Given the description of an element on the screen output the (x, y) to click on. 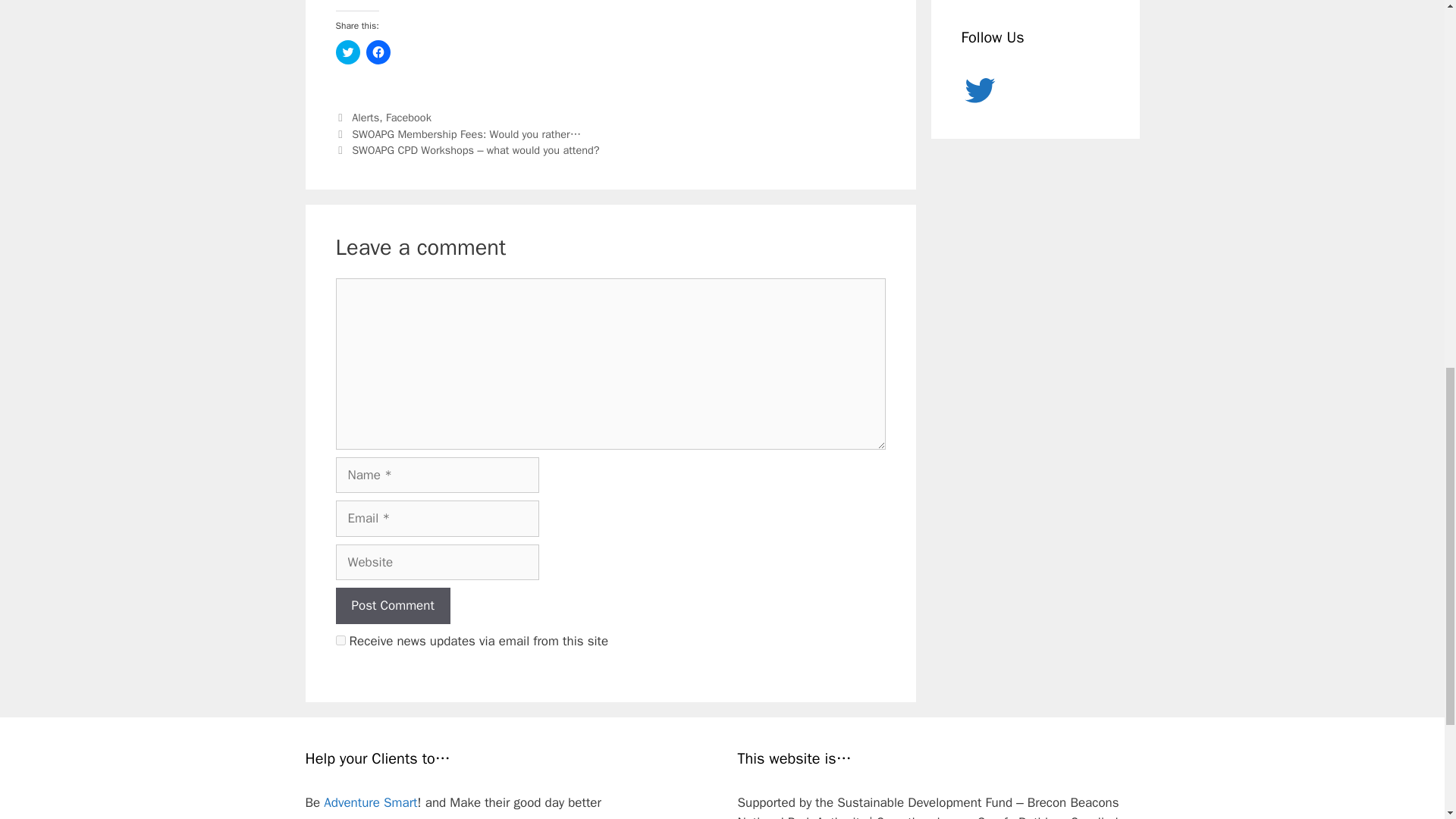
1 (339, 640)
Click to share on Facebook (377, 52)
Click to share on Twitter (346, 52)
Post Comment (391, 606)
Alerts (365, 117)
